Given the description of an element on the screen output the (x, y) to click on. 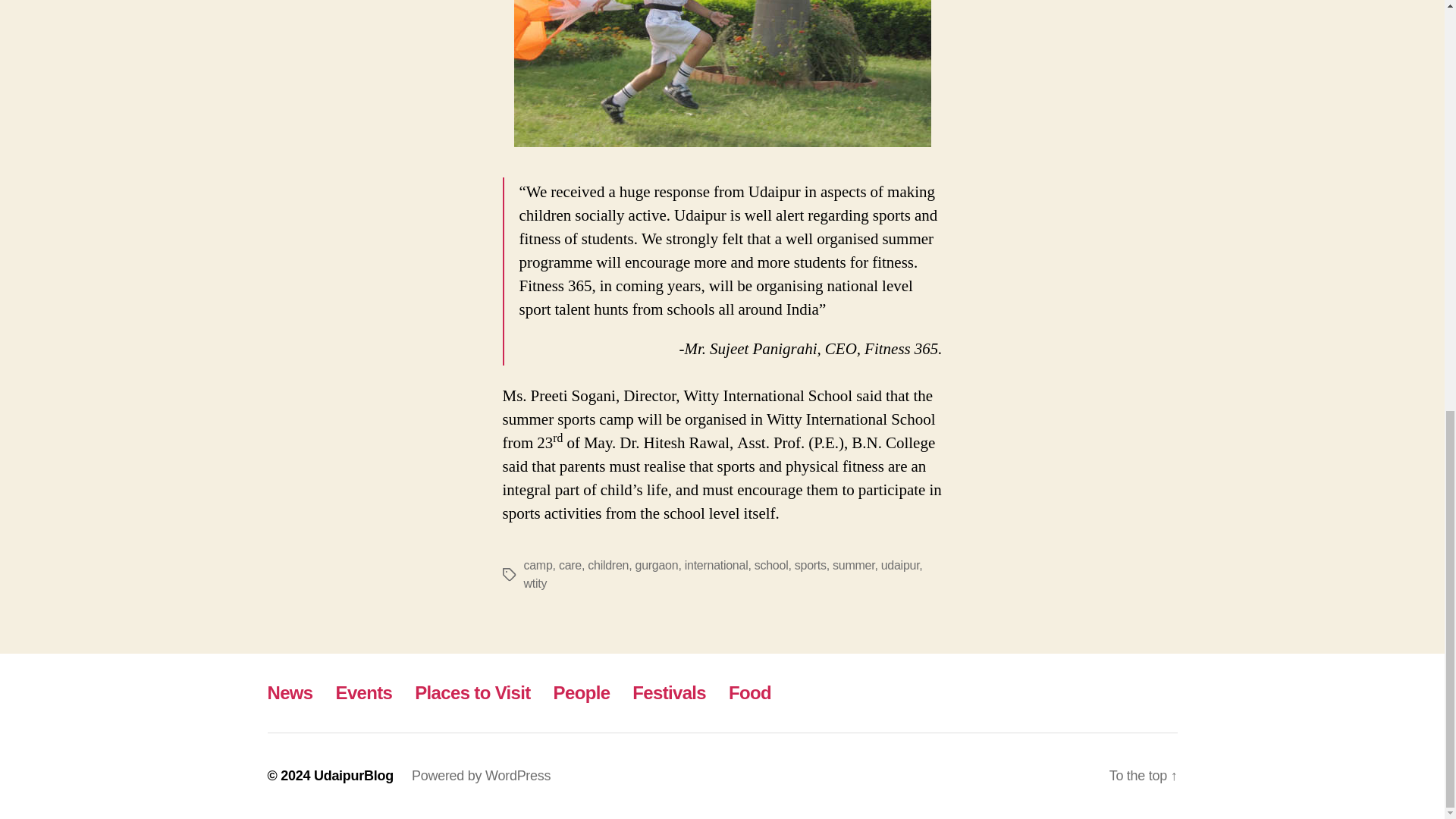
care (569, 564)
school (771, 564)
sports (810, 564)
children (608, 564)
Child Playing (722, 73)
gurgaon (656, 564)
international (716, 564)
camp (536, 564)
